Given the description of an element on the screen output the (x, y) to click on. 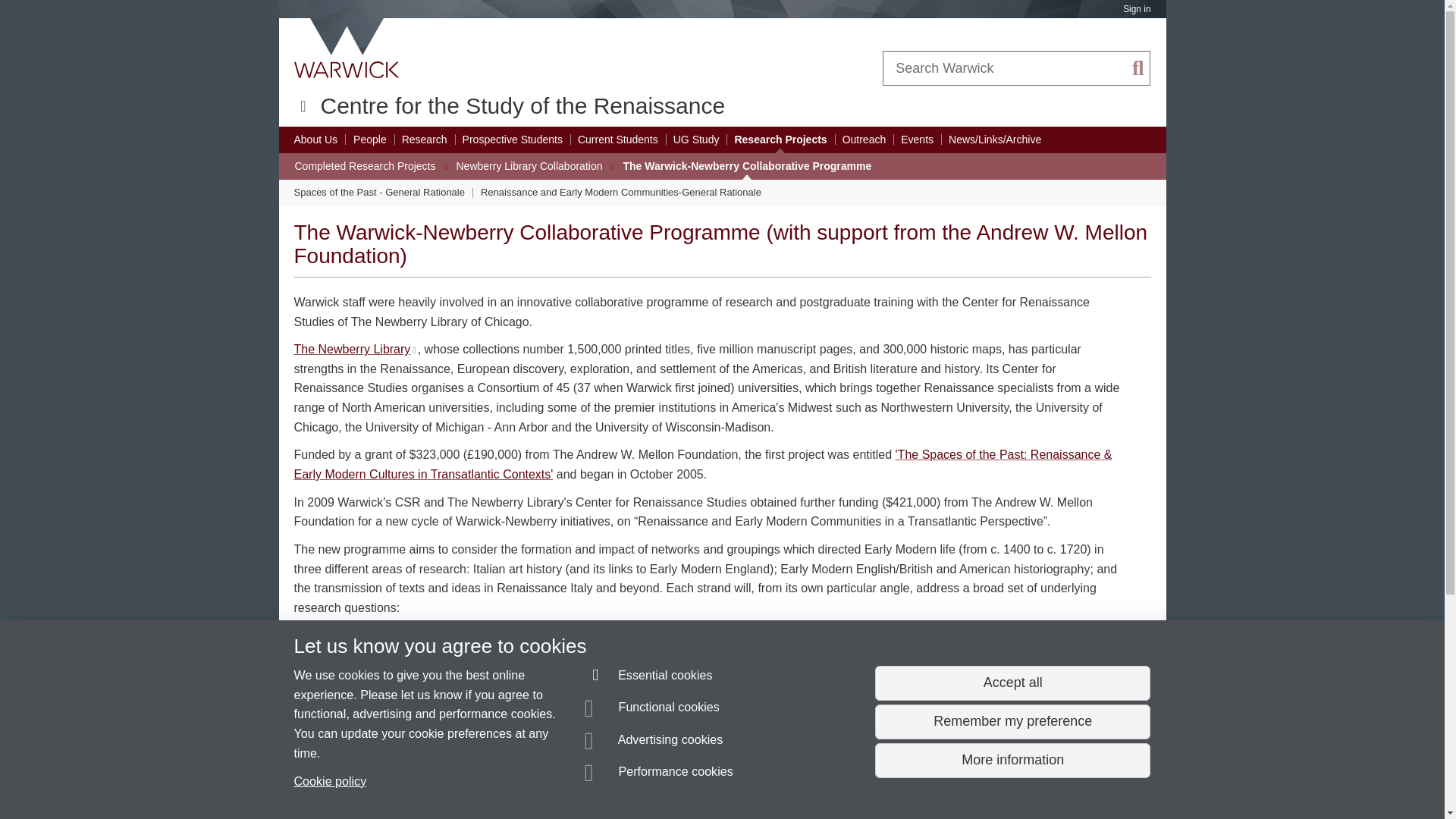
Outreach (864, 139)
Research Projects (780, 139)
Prospective Students (512, 139)
Centre for the Study of the Renaissance (522, 105)
Essential cookies are always on (649, 677)
Current Students (618, 139)
Events (917, 139)
Sign in (1136, 9)
About Us (315, 139)
